Given the description of an element on the screen output the (x, y) to click on. 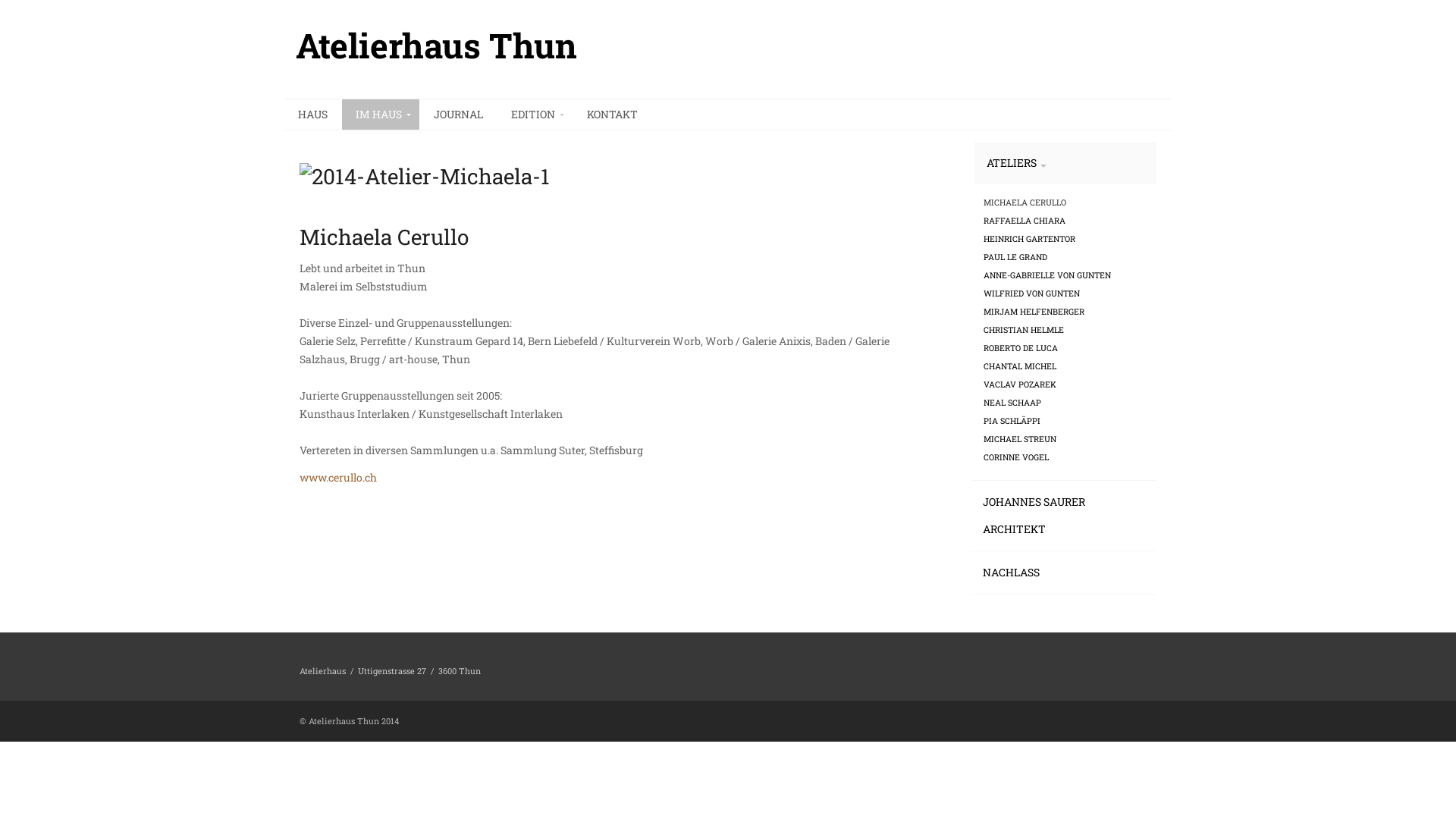
CHANTAL MICHEL Element type: text (1019, 365)
JOHANNES SAURER ARCHITEKT Element type: text (1063, 515)
NEAL SCHAAP Element type: text (1012, 402)
MICHAEL STREUN Element type: text (1019, 438)
IM HAUS Element type: text (380, 114)
HAUS Element type: text (312, 114)
VACLAV POZAREK Element type: text (1019, 384)
HEINRICH GARTENTOR Element type: text (1029, 238)
KONTAKT Element type: text (612, 114)
CORINNE VOGEL Element type: text (1015, 456)
ATELIERS Element type: text (1065, 162)
ROBERTO DE LUCA Element type: text (1020, 347)
PAUL LE GRAND Element type: text (1015, 256)
WILFRIED VON GUNTEN Element type: text (1031, 293)
MICHAELA CERULLO Element type: text (1024, 202)
MIRJAM HELFENBERGER Element type: text (1033, 311)
www.cerullo.ch Element type: text (337, 477)
EDITION Element type: text (534, 114)
RAFFAELLA CHIARA Element type: text (1024, 220)
CHRISTIAN HELMLE Element type: text (1023, 329)
Atelierhaus Thun Element type: text (436, 45)
NACHLASS Element type: text (1063, 572)
ANNE-GABRIELLE VON GUNTEN Element type: text (1046, 274)
JOURNAL Element type: text (458, 114)
